Given the description of an element on the screen output the (x, y) to click on. 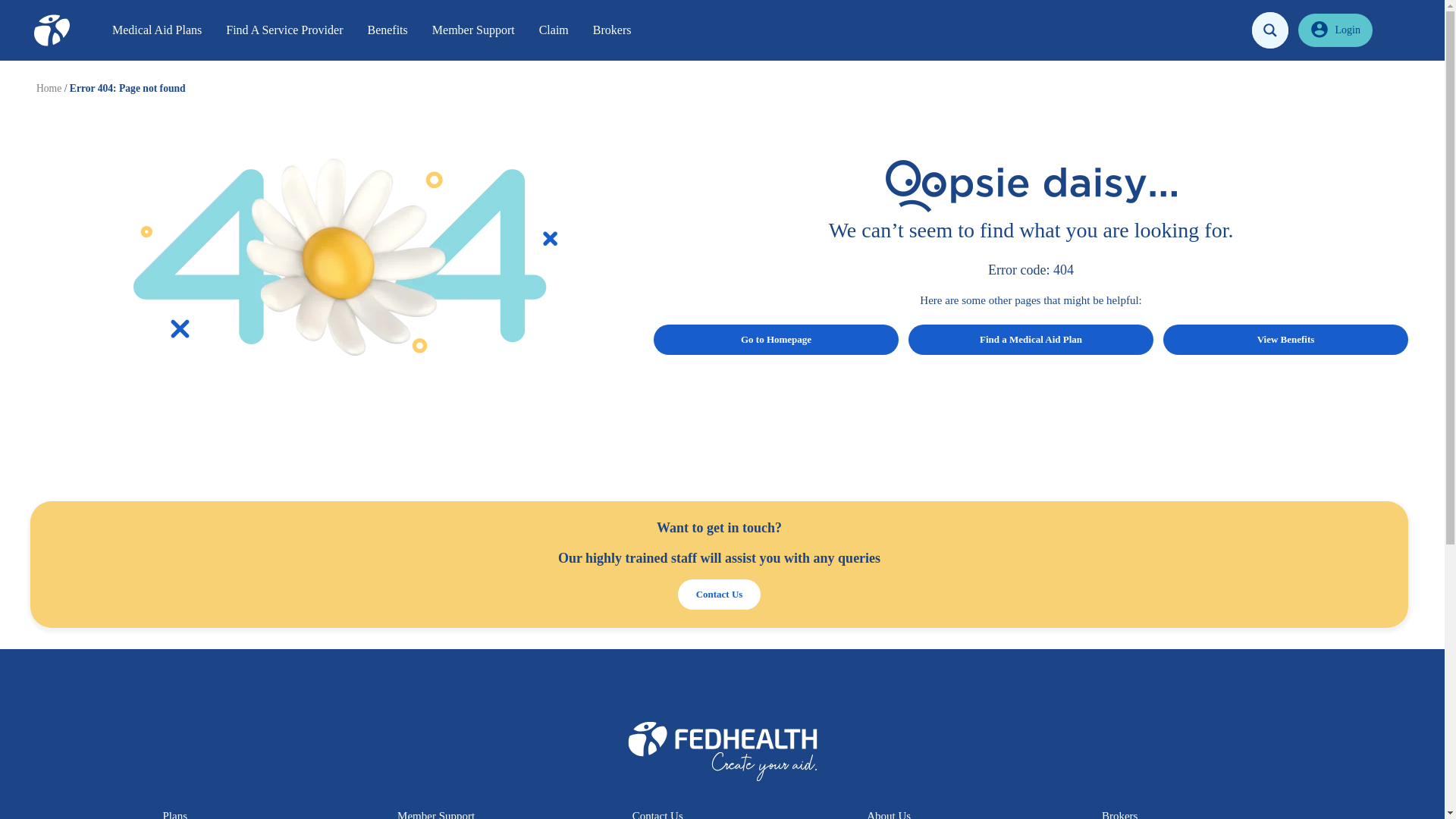
Find A Service Provider (284, 30)
Member Support (473, 30)
Medical Aid Plans (157, 30)
Brokers (611, 30)
Benefits (387, 30)
Login (1334, 29)
